Given the description of an element on the screen output the (x, y) to click on. 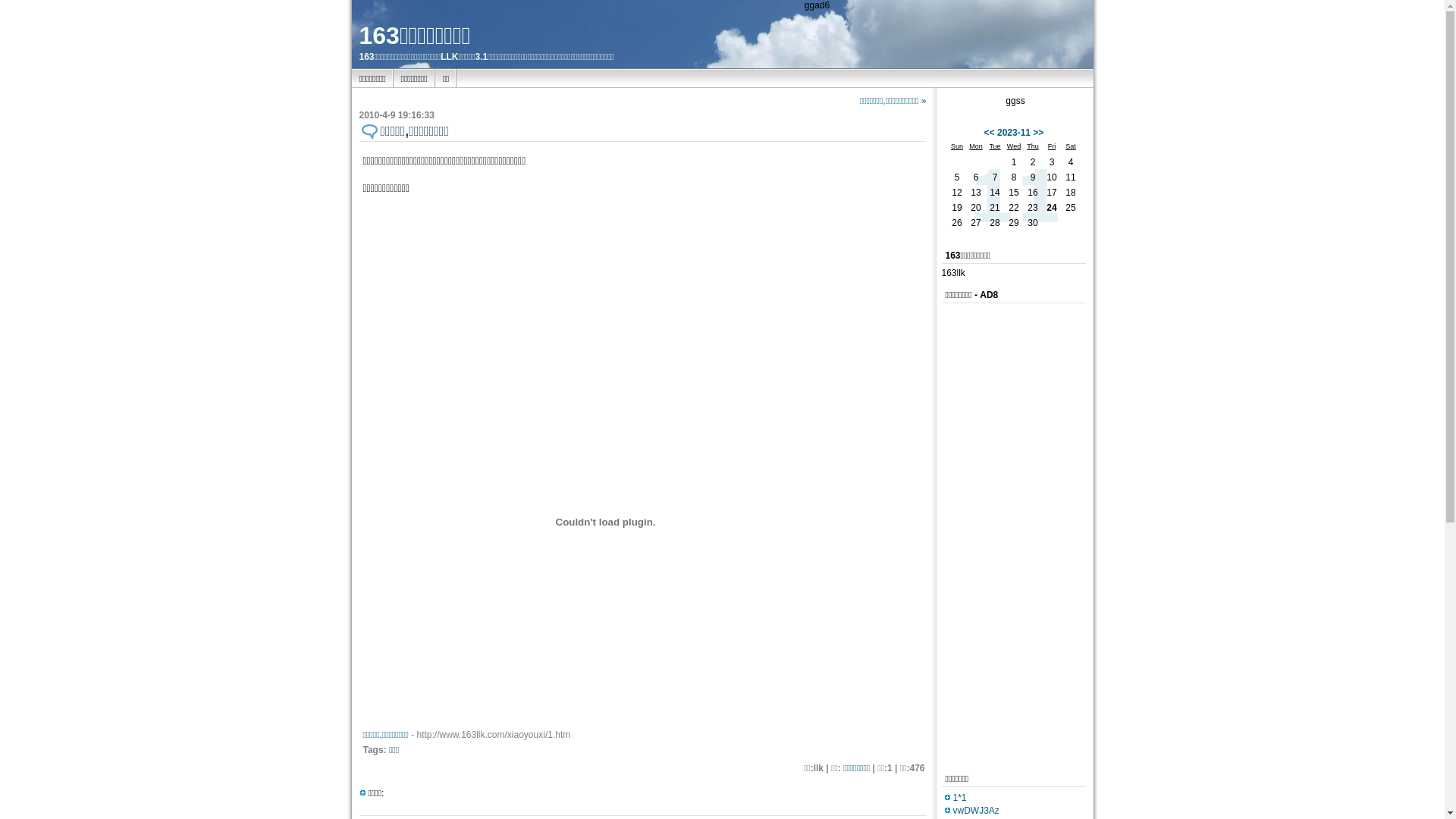
Advertisement Element type: hover (794, 240)
vwDWJ3Az Element type: text (975, 810)
2023-11 Element type: text (1013, 132)
>> Element type: text (1037, 132)
Advertisement Element type: hover (1002, 534)
Advertisement Element type: hover (745, 750)
<< Element type: text (989, 132)
1*1 Element type: text (959, 797)
